Given the description of an element on the screen output the (x, y) to click on. 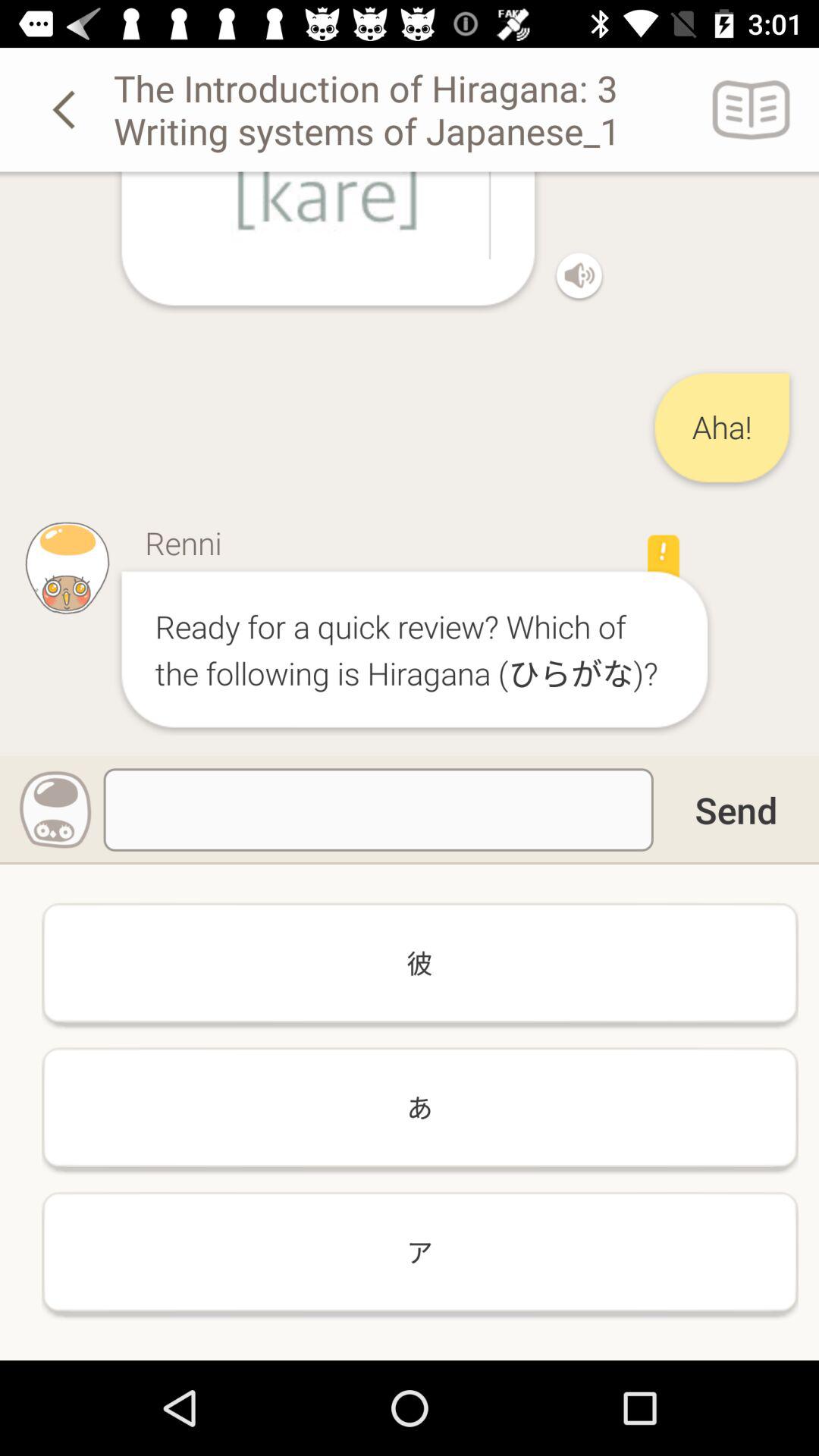
select the back button at the top left of page (66, 108)
click on the image at left side of renni (66, 567)
select a text field which is before send on a page (378, 809)
click on the icon right to the text renni (662, 557)
click on the text aha (721, 428)
select the last text (419, 1251)
click on the option kare (327, 216)
